Given the description of an element on the screen output the (x, y) to click on. 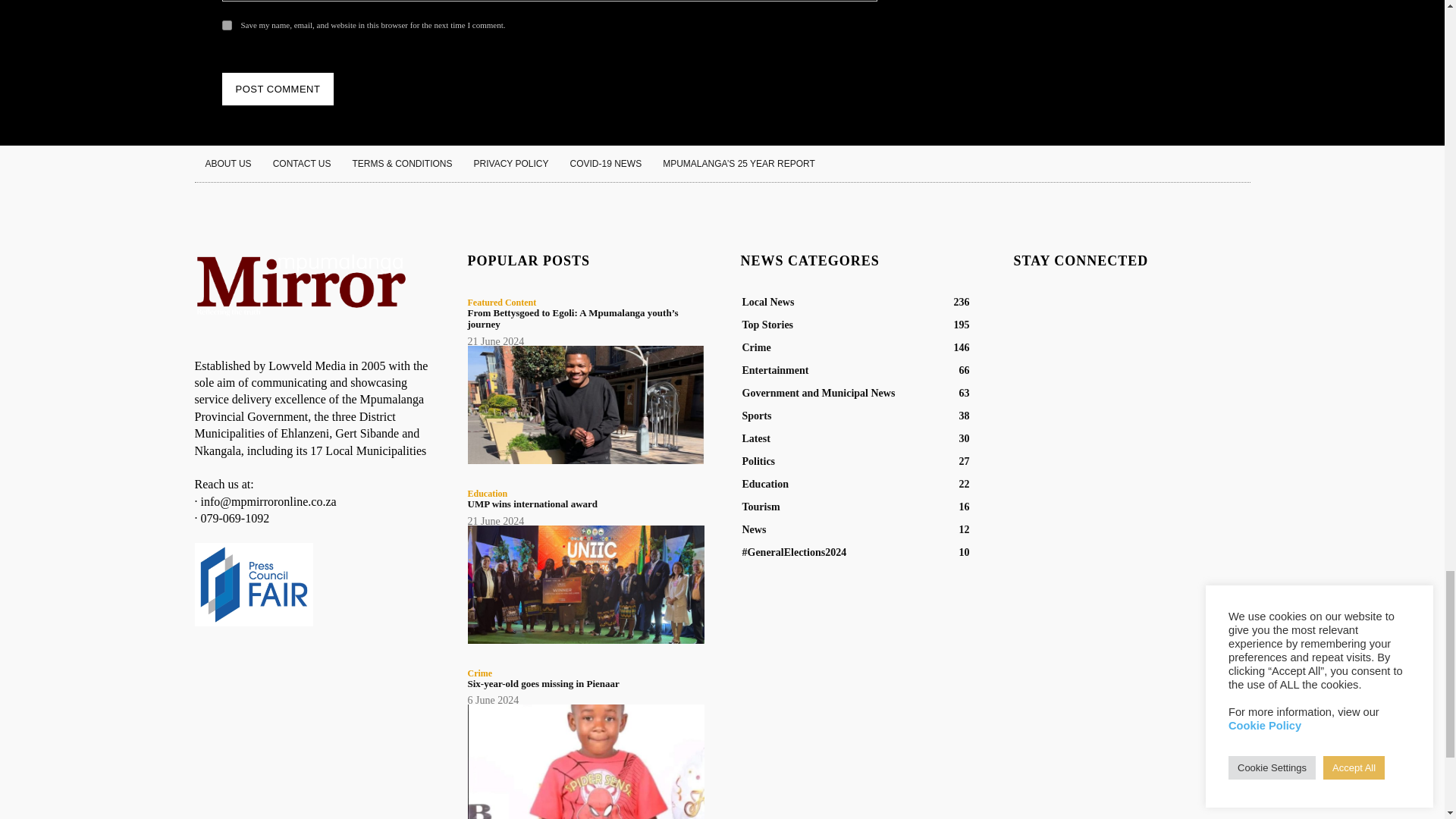
yes (226, 25)
Post Comment (277, 88)
